Given the description of an element on the screen output the (x, y) to click on. 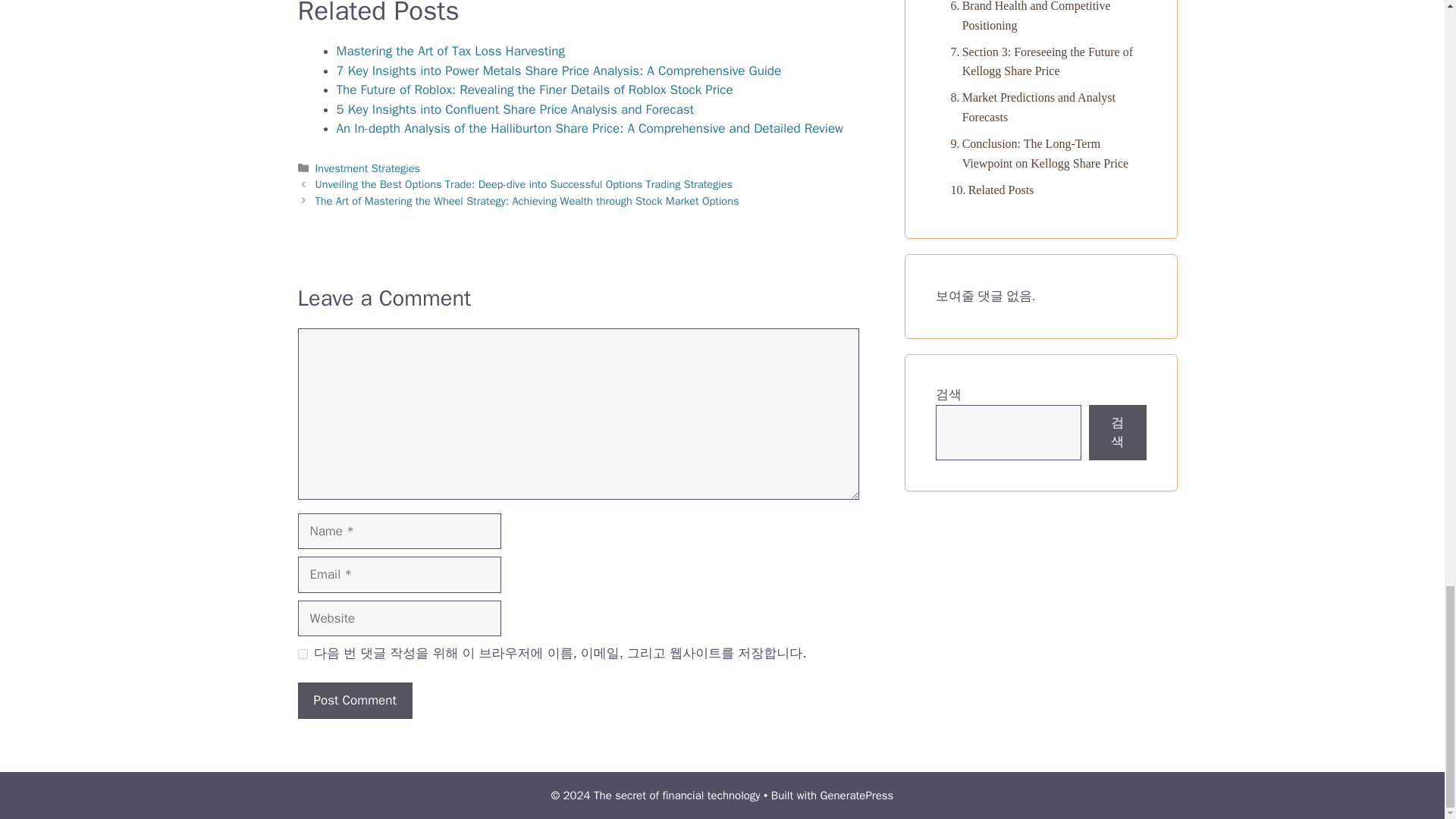
Mastering the Art of Tax Loss Harvesting (451, 50)
yes (302, 654)
Post Comment (354, 700)
Post Comment (354, 700)
Investment Strategies (367, 168)
